Given the description of an element on the screen output the (x, y) to click on. 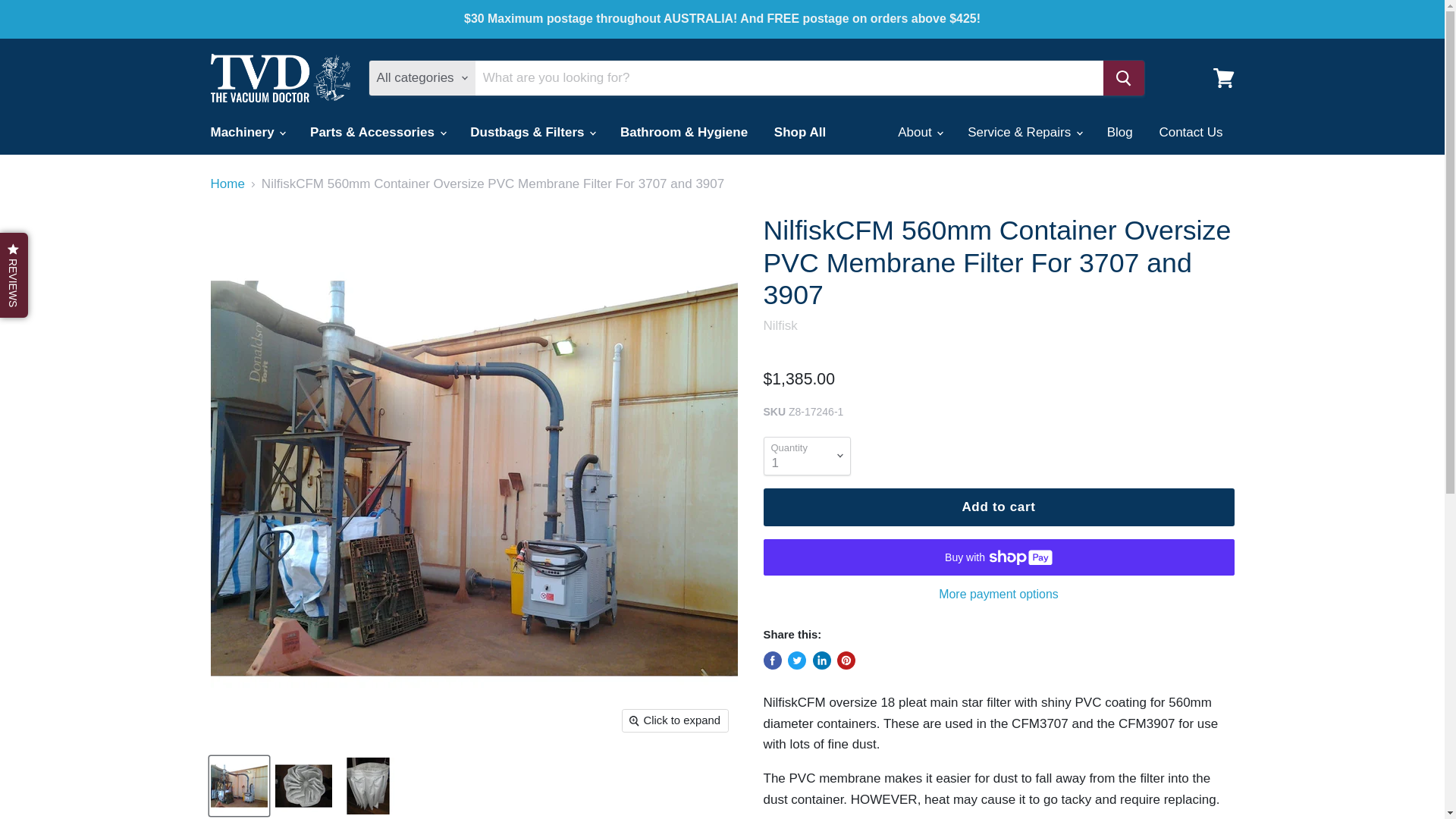
Machinery (246, 132)
View cart (1223, 77)
Nilfisk (779, 325)
